Given the description of an element on the screen output the (x, y) to click on. 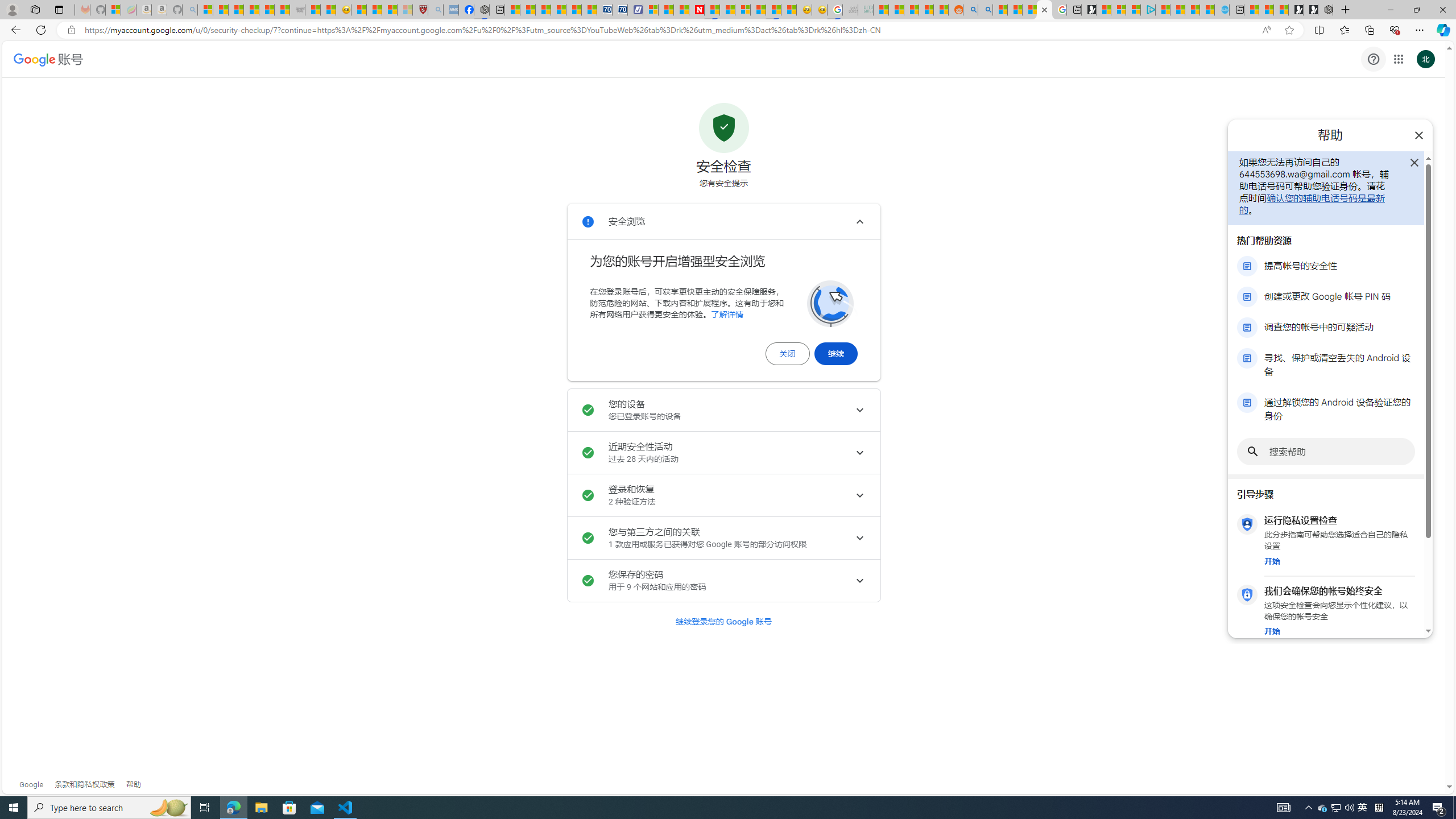
Class: gb_E (1398, 59)
Utah sues federal government - Search (984, 9)
The Weather Channel - MSN (236, 9)
Student Loan Update: Forgiveness Program Ends This Month (926, 9)
